Given the description of an element on the screen output the (x, y) to click on. 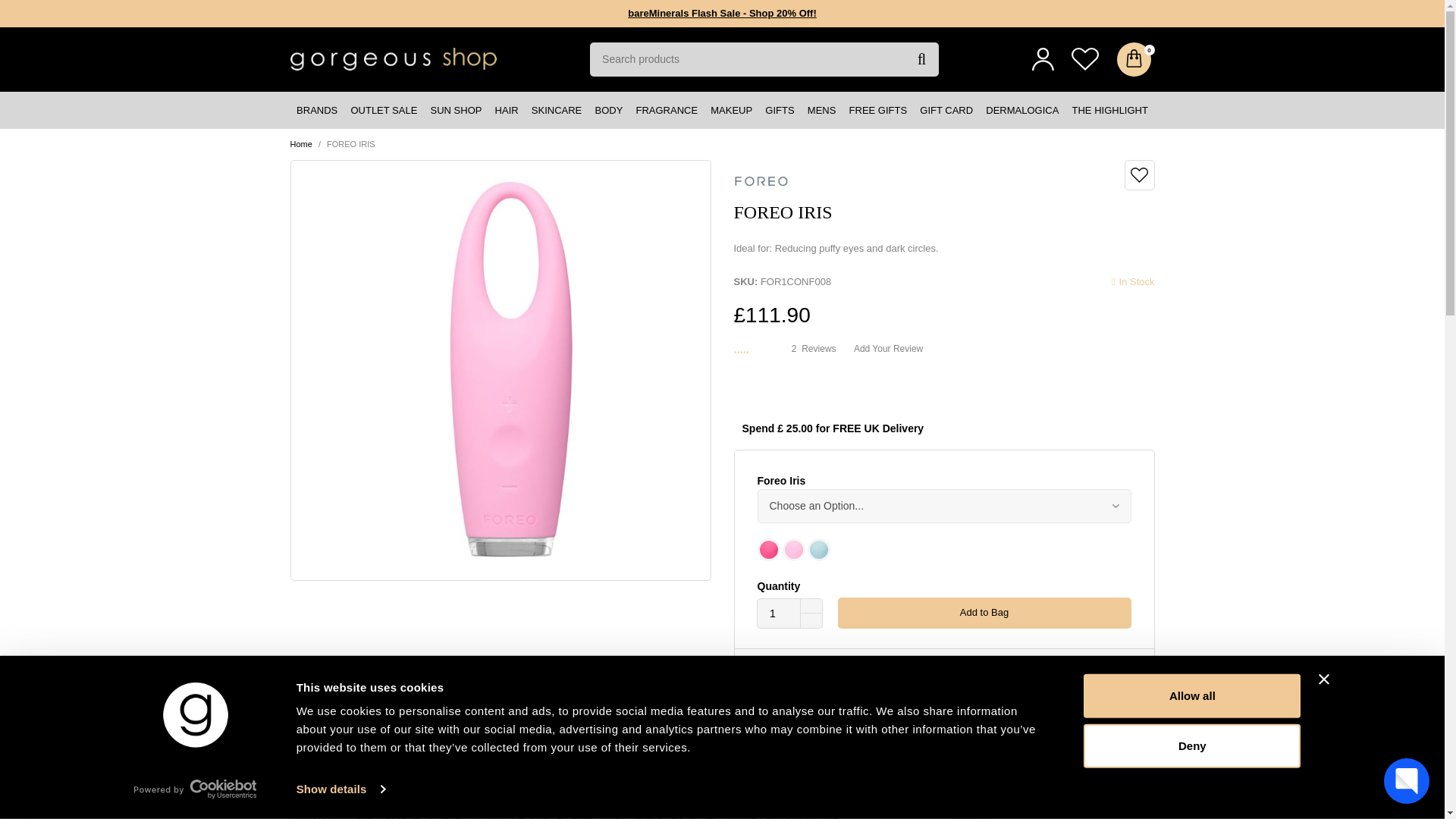
1 (778, 613)
Show details (340, 789)
